Given the description of an element on the screen output the (x, y) to click on. 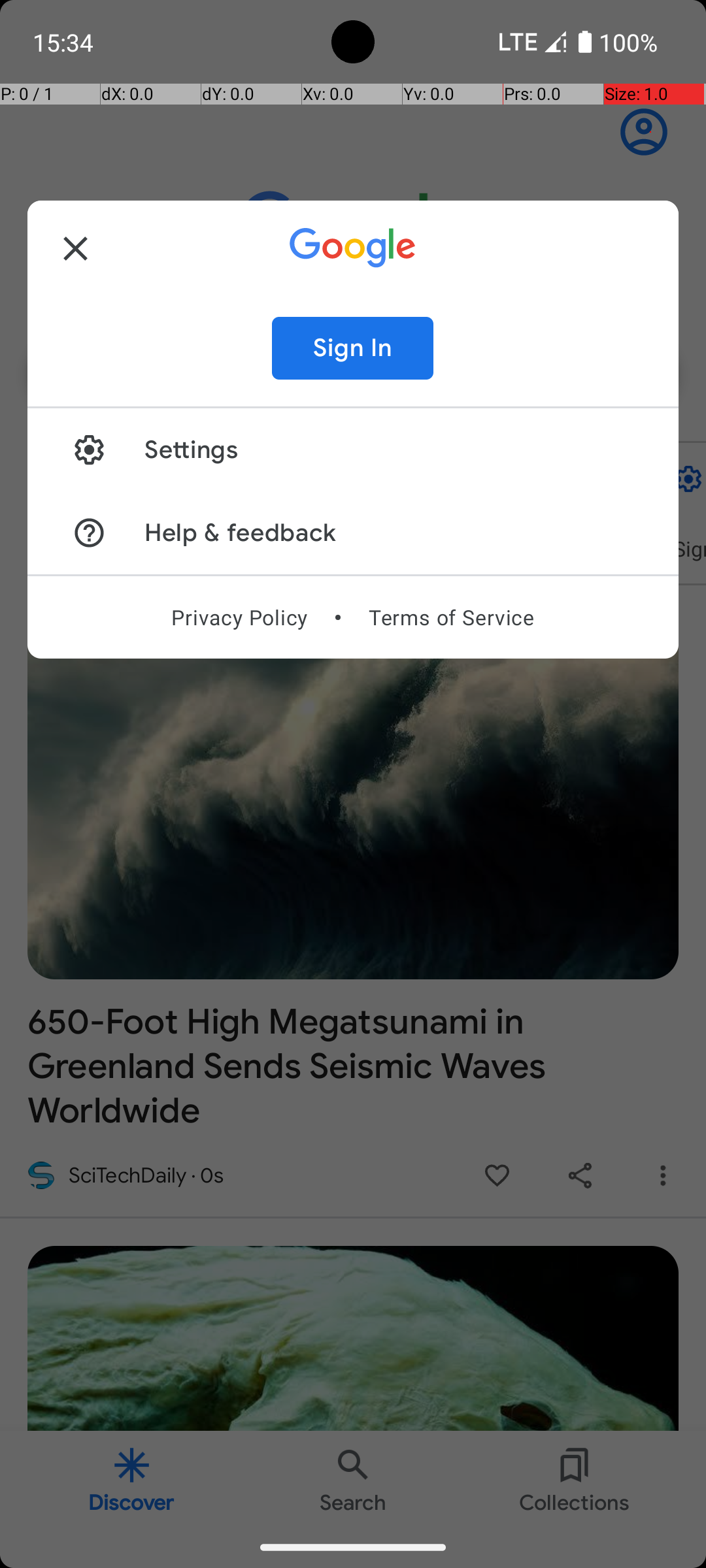
Sign In Element type: android.widget.Button (352, 348)
Privacy Policy Element type: android.widget.Button (239, 617)
Terms of Service Element type: android.widget.Button (450, 617)
